Given the description of an element on the screen output the (x, y) to click on. 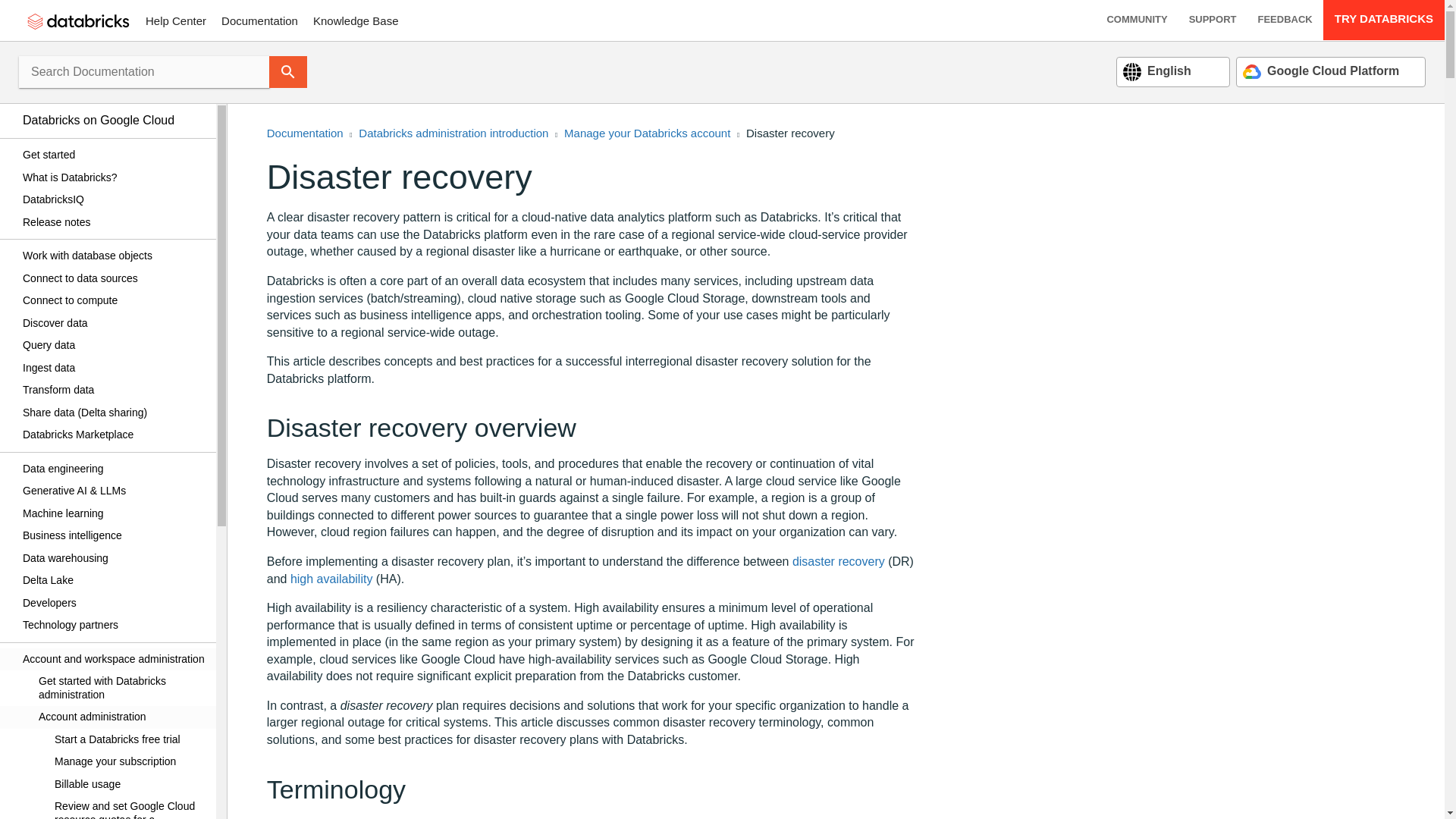
Transform data (113, 390)
Work with database objects (113, 255)
Google Cloud Platform (1321, 72)
Help Center (176, 20)
Machine learning (113, 513)
Data warehousing (113, 558)
Knowledge Base (355, 20)
Get started (113, 155)
Developers (113, 602)
English (1156, 72)
Documentation (259, 20)
DatabricksIQ (113, 200)
Databricks Marketplace (113, 435)
Data engineering (113, 468)
Ingest data (113, 367)
